Given the description of an element on the screen output the (x, y) to click on. 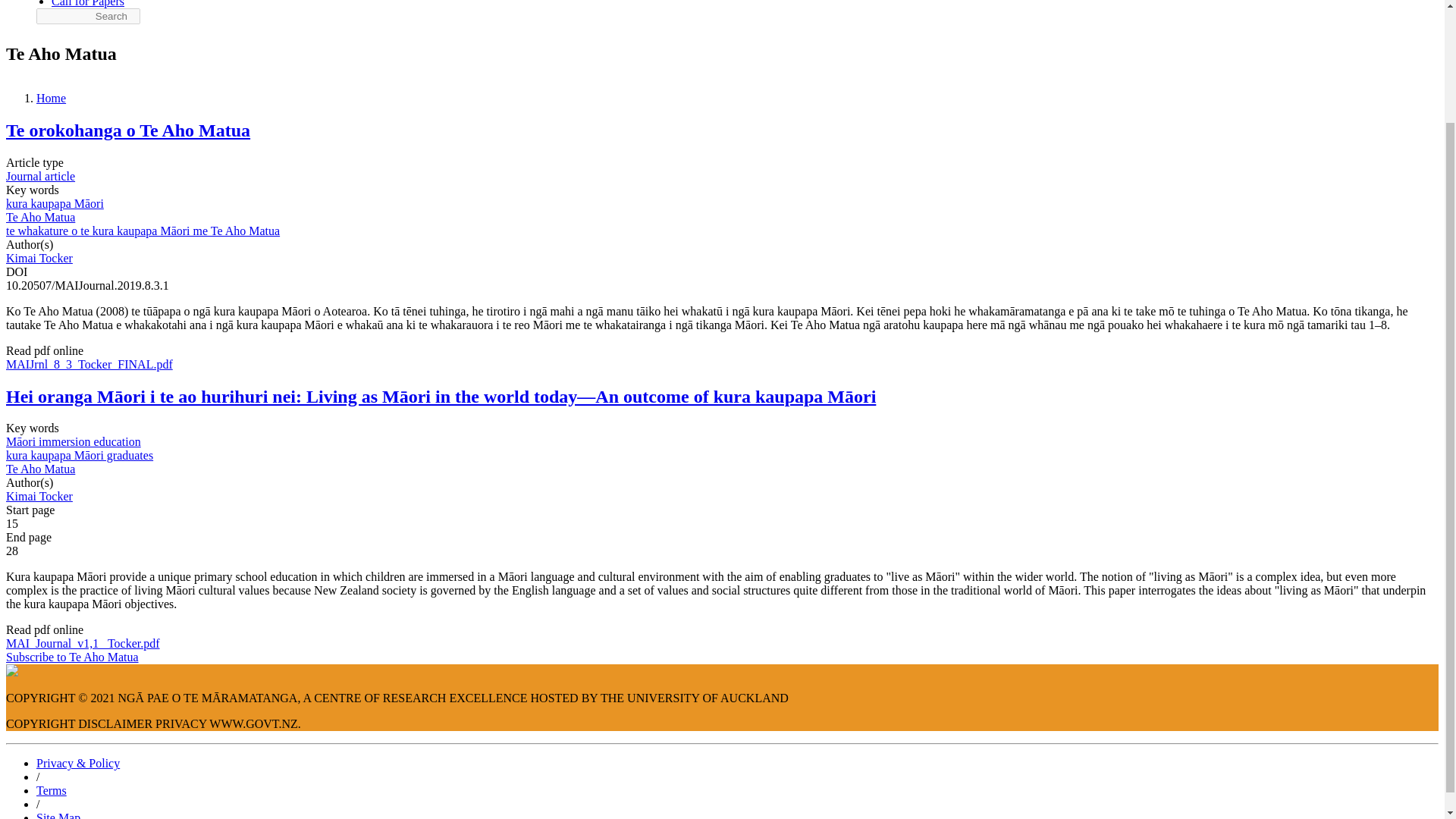
Kimai Tocker (38, 495)
Enter the terms you wish to search for. (87, 16)
Te Aho Matua (40, 468)
Kimai Tocker (38, 257)
Subscribe to Te Aho Matua (71, 656)
Te orokohanga o Te Aho Matua (127, 130)
Terms (51, 789)
Te Aho Matua (40, 216)
Call for Papers (86, 3)
